Given the description of an element on the screen output the (x, y) to click on. 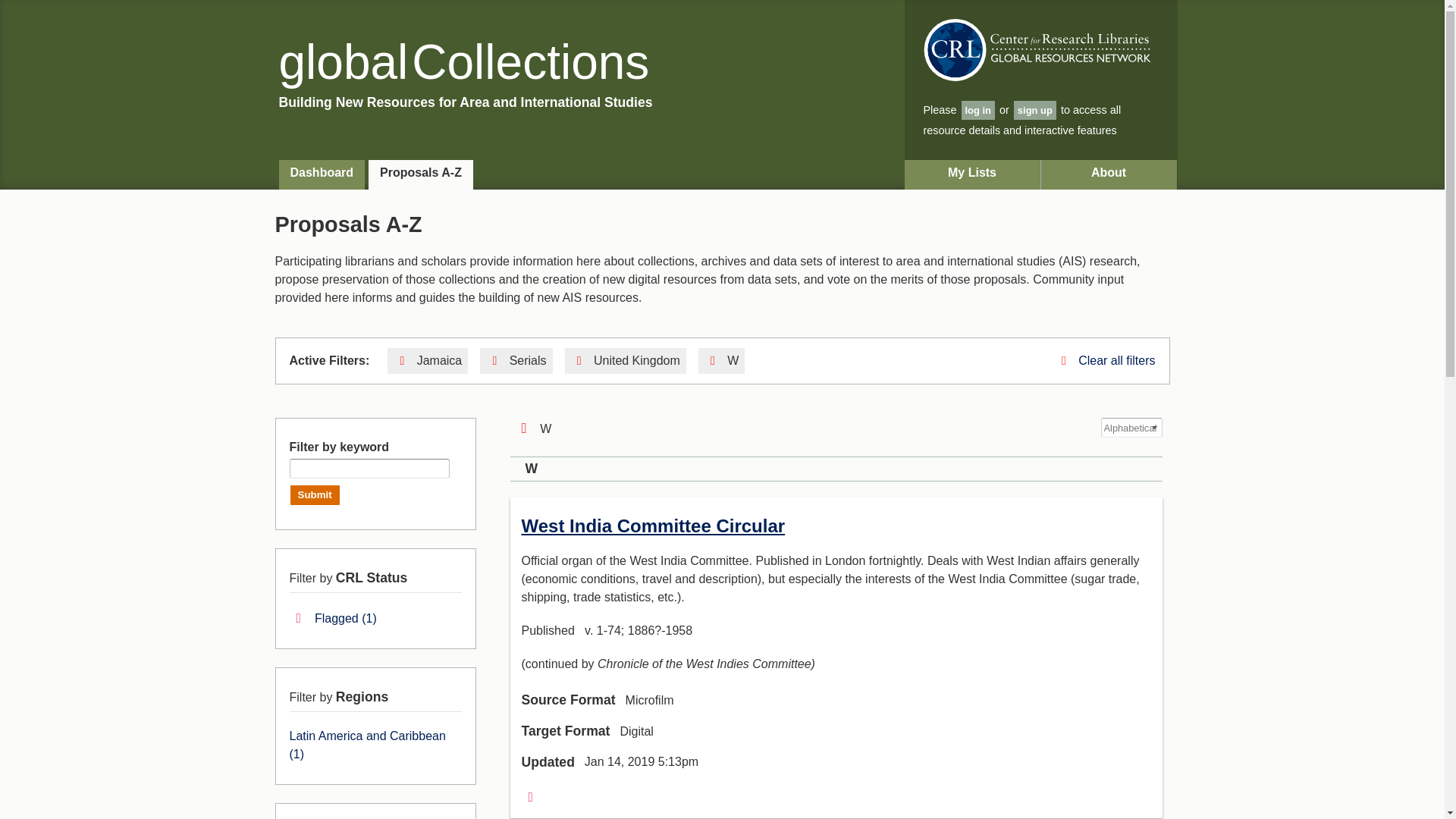
About (1108, 174)
West India Committee Circular (653, 525)
Clear all filters (1105, 359)
Dashboard (322, 174)
My Lists (972, 174)
Submit (314, 495)
The proposal is flagged for further research. (333, 617)
log in (977, 109)
Proposals A-Z (420, 174)
My Lists Dashboard. (972, 174)
Flagged: The proposal is flagged for further research. (530, 796)
global Collections (464, 62)
sign up (1035, 109)
Submit (314, 495)
